Given the description of an element on the screen output the (x, y) to click on. 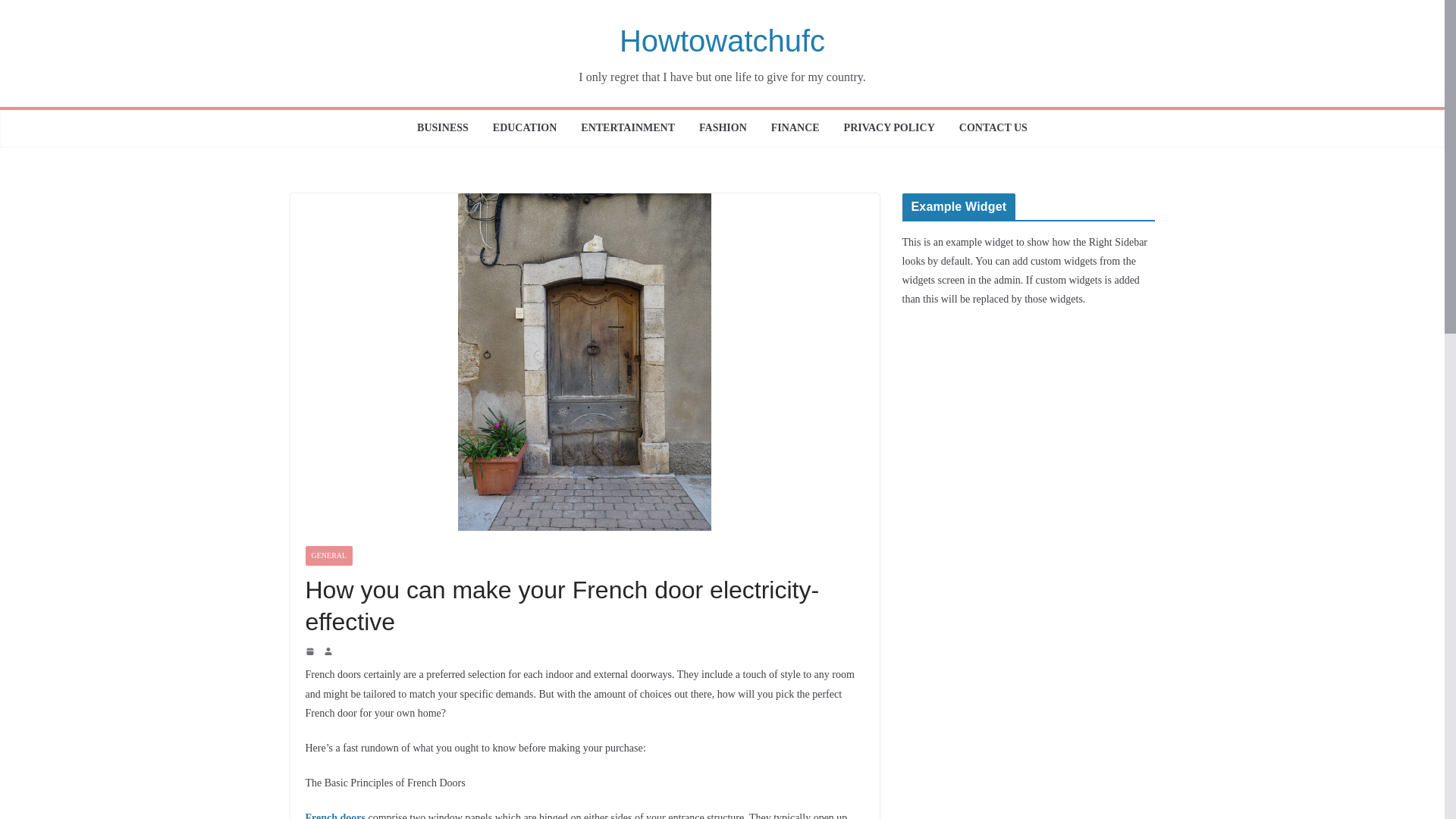
CONTACT US (993, 128)
FINANCE (795, 128)
GENERAL (328, 555)
Howtowatchufc (722, 40)
PRIVACY POLICY (889, 128)
ENTERTAINMENT (627, 128)
BUSINESS (442, 128)
Howtowatchufc (722, 40)
FASHION (722, 128)
French doors (334, 815)
